Given the description of an element on the screen output the (x, y) to click on. 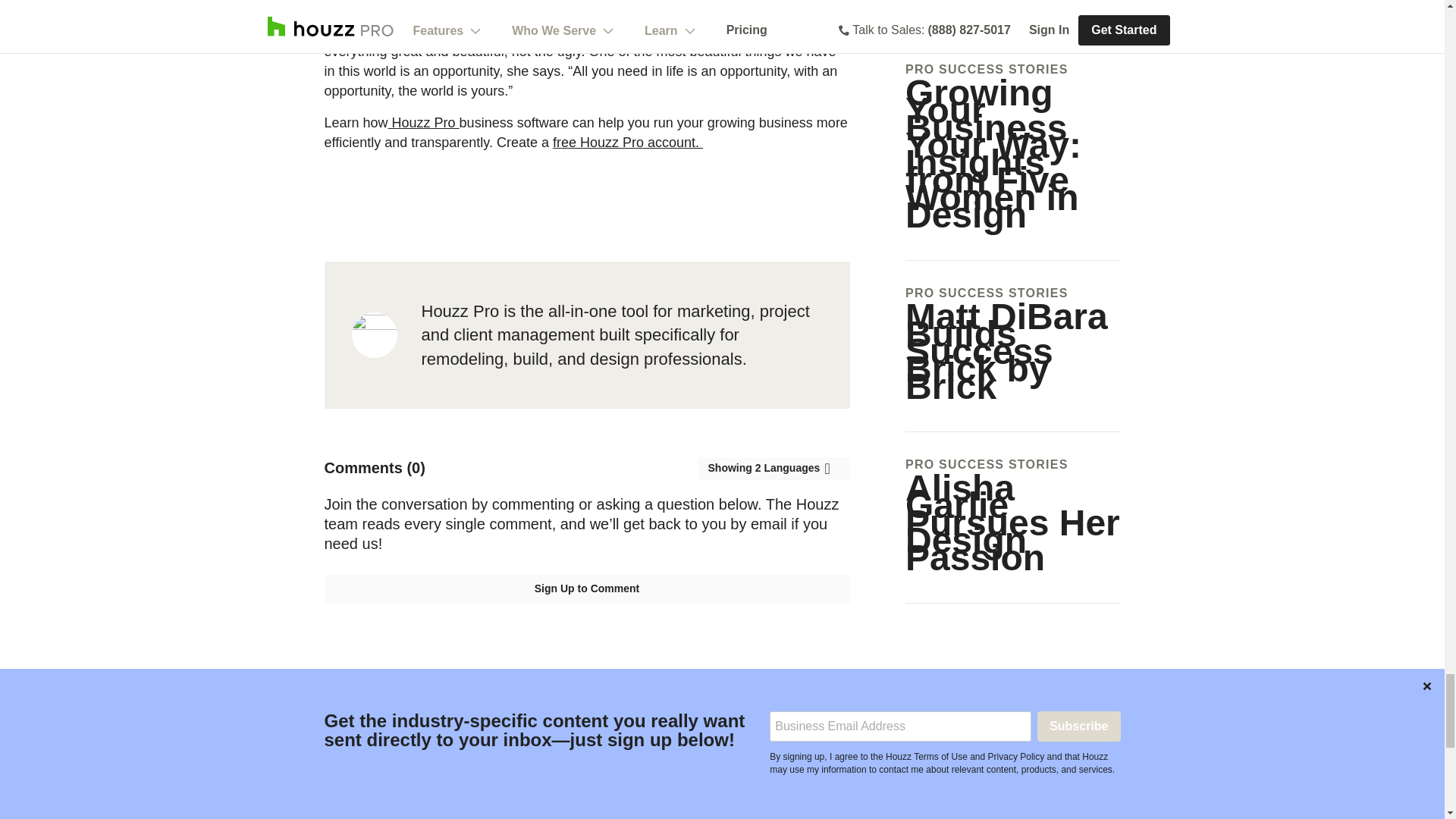
Showing 2 Languages (772, 468)
free Houzz Pro account.  (628, 142)
Sign Up to Comment (587, 588)
Houzz Pro (424, 122)
